Given the description of an element on the screen output the (x, y) to click on. 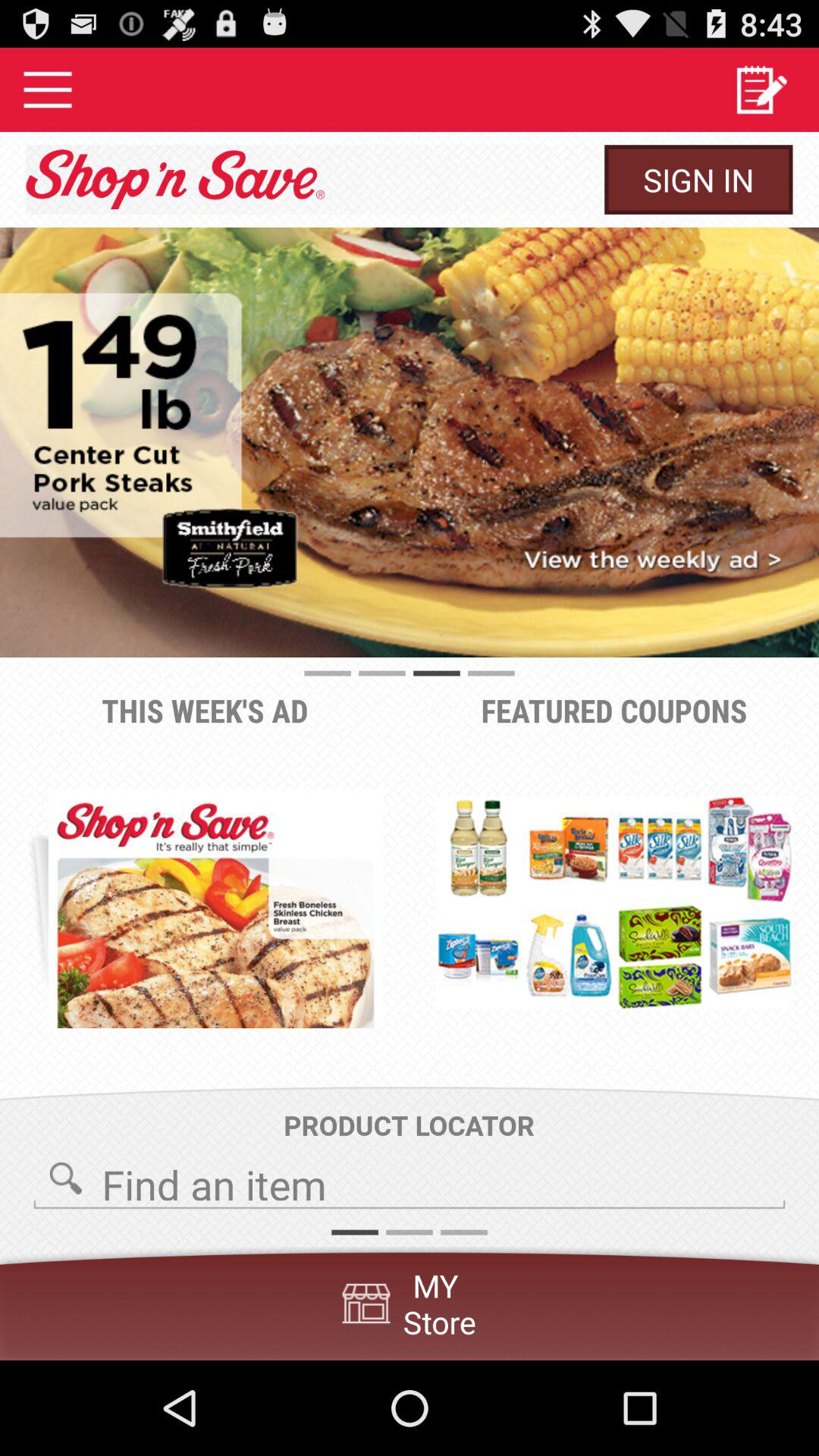
search function (409, 1179)
